Given the description of an element on the screen output the (x, y) to click on. 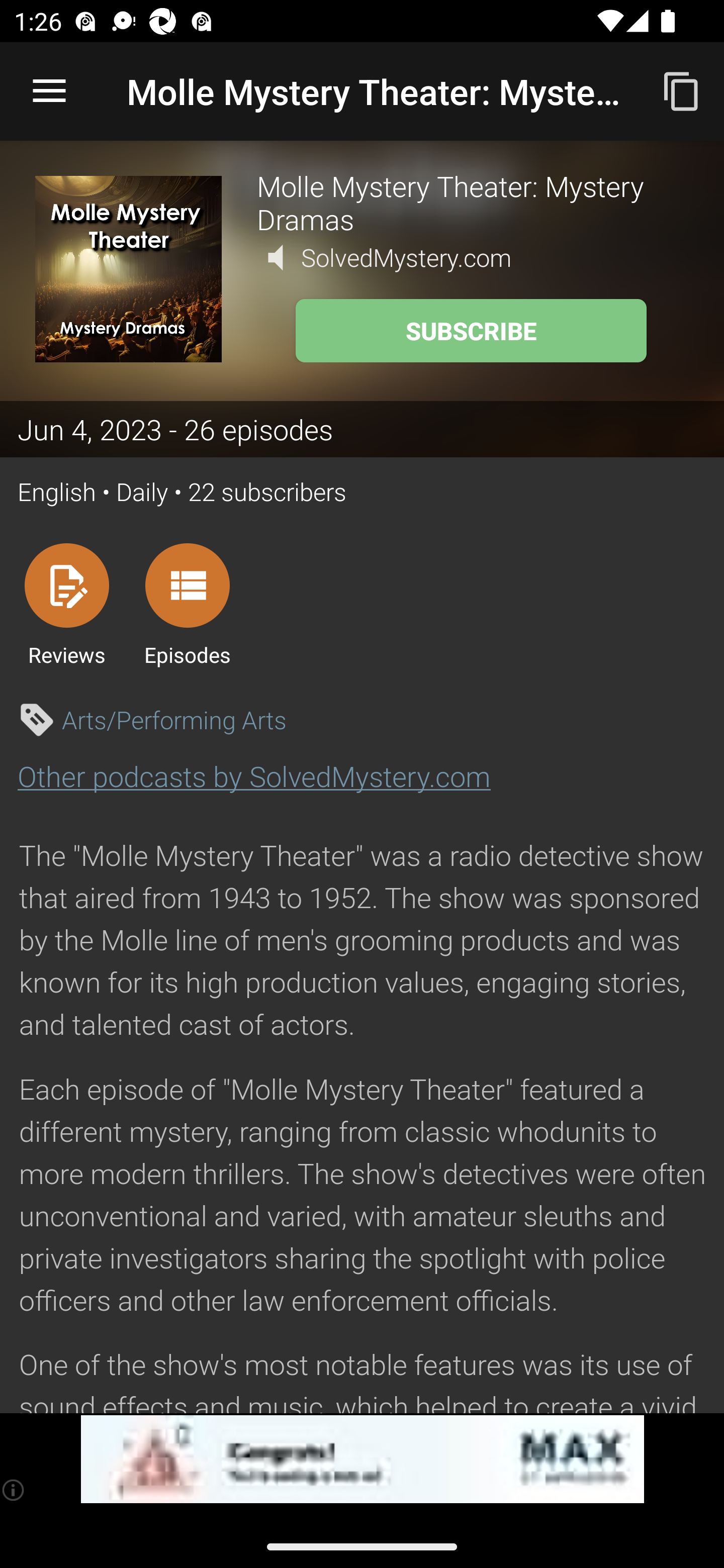
Open navigation sidebar (49, 91)
Copy feed url to clipboard (681, 90)
Molle Mystery Theater: Mystery Dramas (472, 202)
SUBSCRIBE (470, 330)
Reviews (66, 604)
Episodes (187, 604)
Other podcasts by SolvedMystery.com (253, 775)
app-monetization (362, 1459)
(i) (14, 1489)
